Given the description of an element on the screen output the (x, y) to click on. 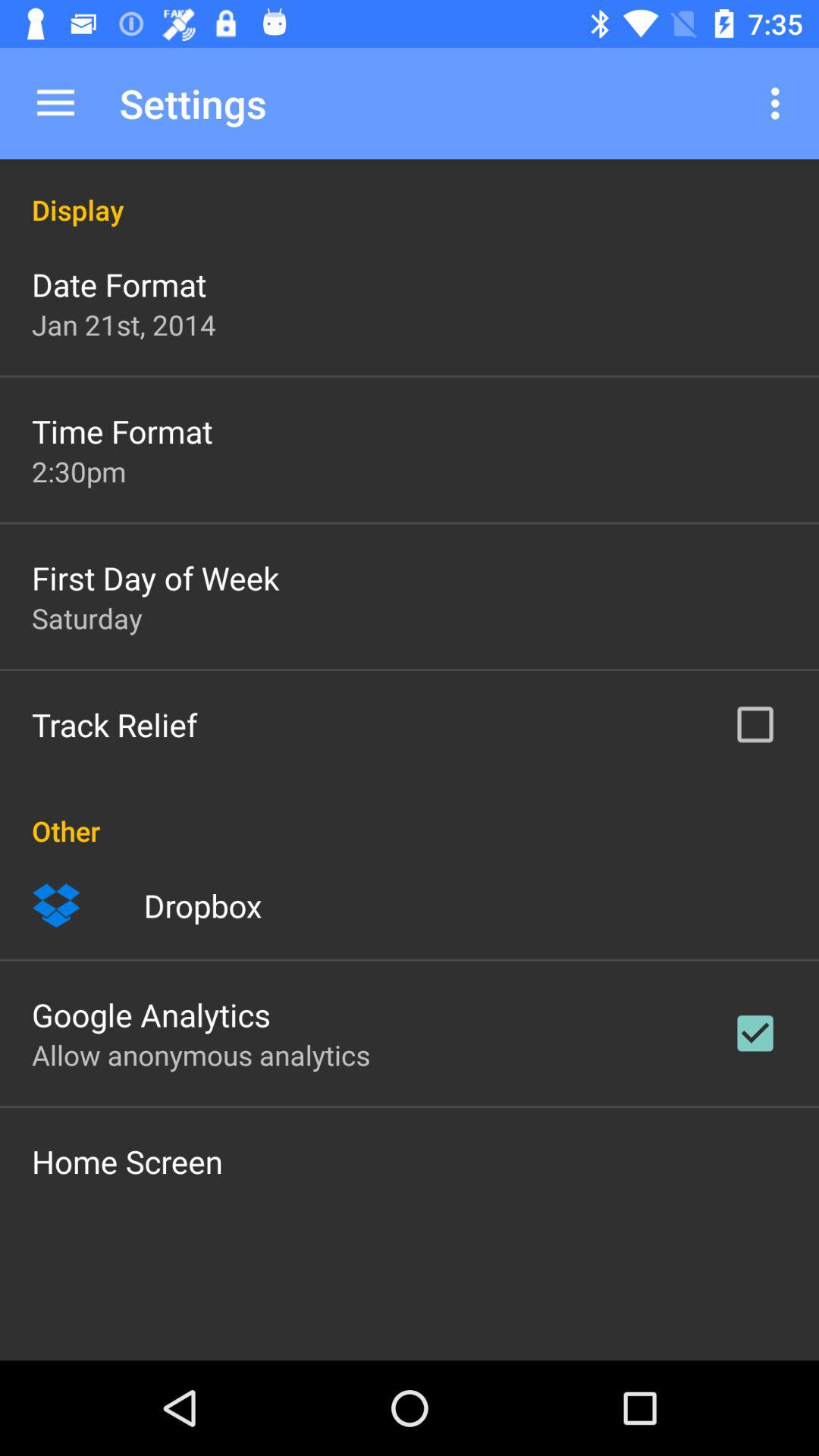
swipe until home screen item (126, 1161)
